Given the description of an element on the screen output the (x, y) to click on. 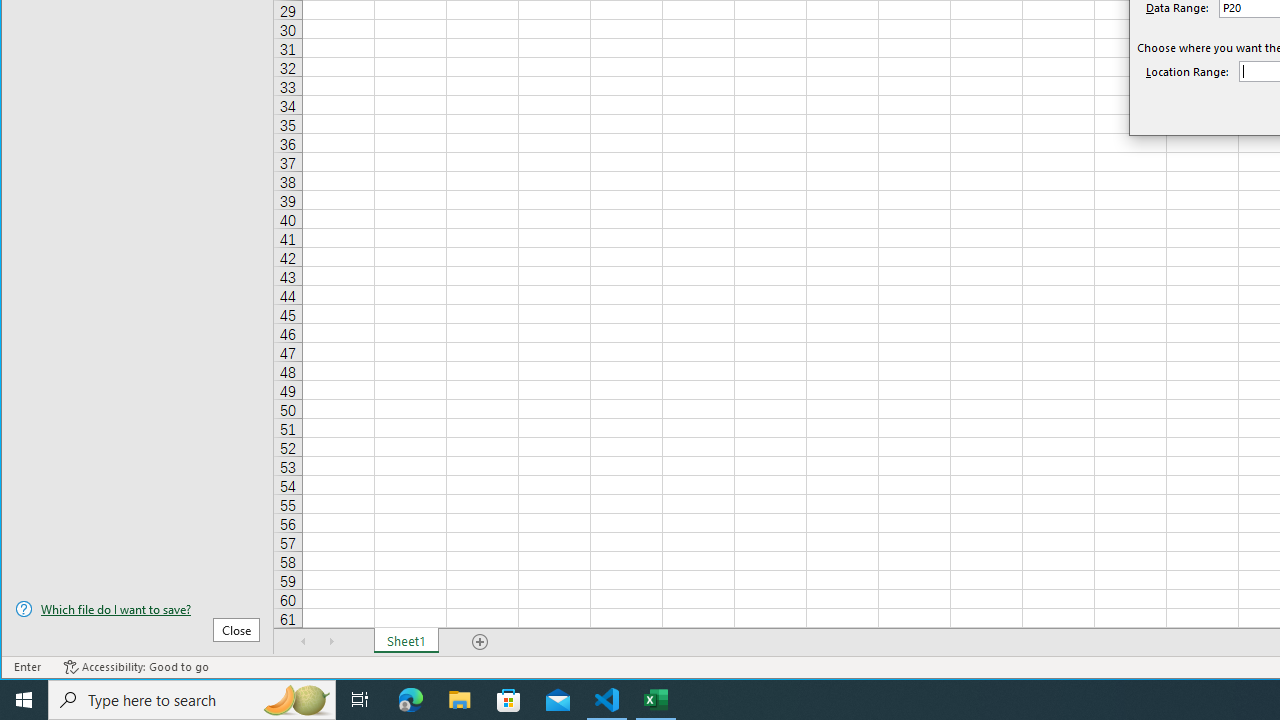
Task View (359, 699)
Microsoft Store (509, 699)
Microsoft Edge (411, 699)
Type here to search (191, 699)
Which file do I want to save? (137, 609)
Start (24, 699)
File Explorer (460, 699)
Visual Studio Code - 1 running window (607, 699)
Excel - 1 running window (656, 699)
